Given the description of an element on the screen output the (x, y) to click on. 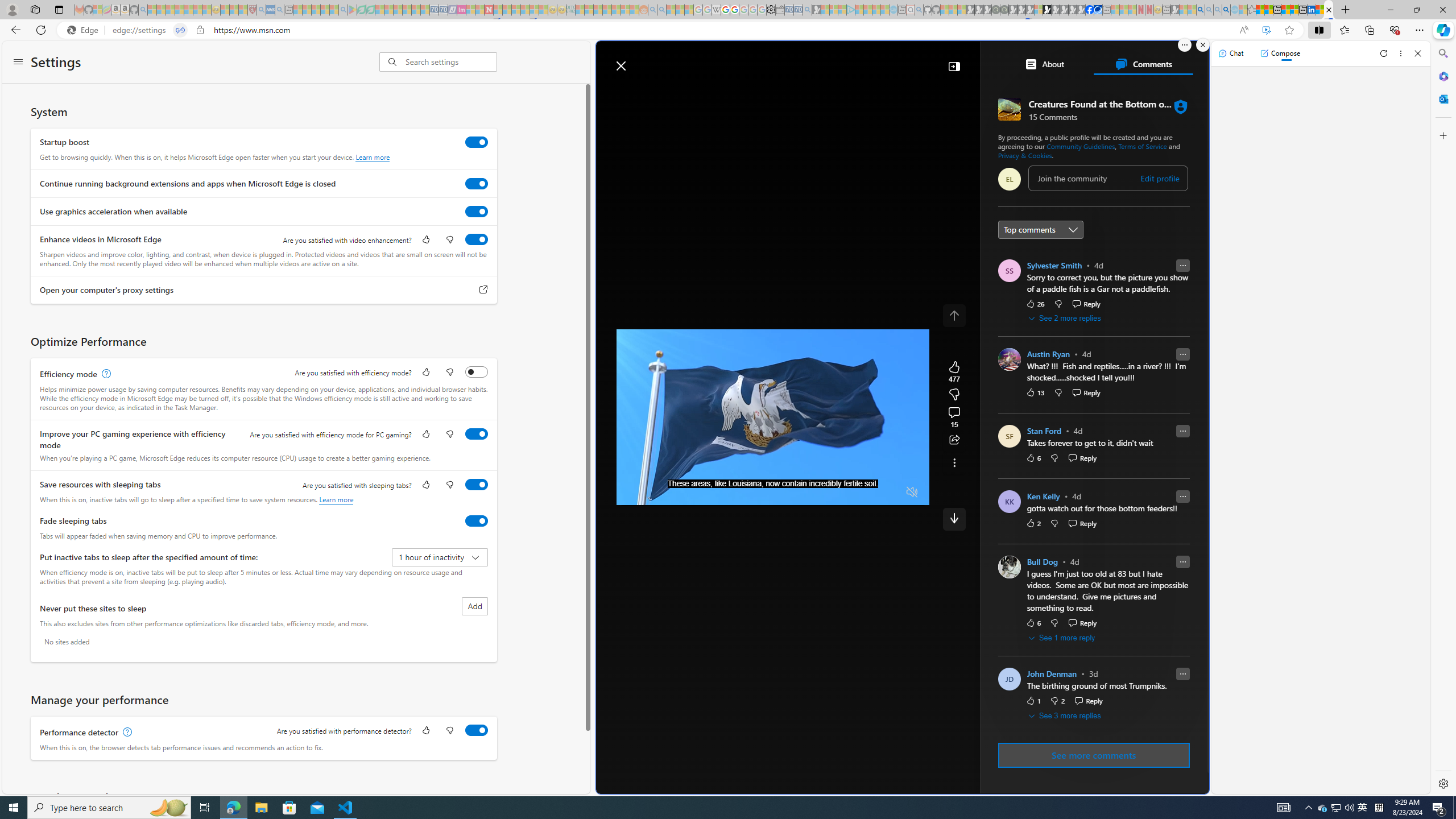
See 1 more reply (1062, 638)
LinkedIn (1311, 9)
477 (954, 394)
Kinda Frugal - MSN - Sleeping (616, 9)
Home | Sky Blue Bikes - Sky Blue Bikes - Sleeping (892, 9)
Sort comments by (1040, 229)
About (1044, 63)
Bing Real Estate - Home sales and rental listings - Sleeping (806, 9)
